Given the description of an element on the screen output the (x, y) to click on. 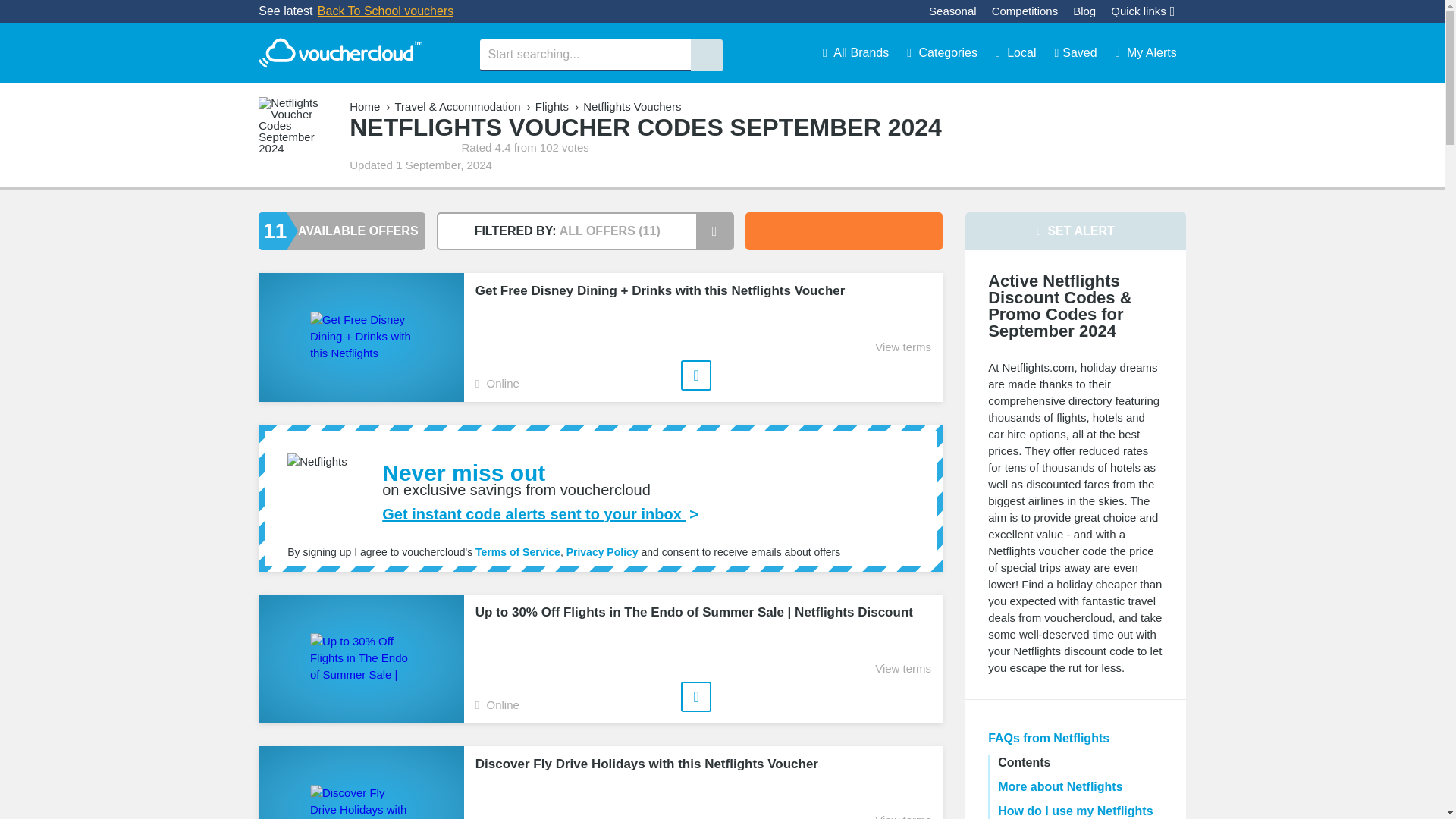
vouchercloud (340, 52)
SEARCH (706, 55)
